Given the description of an element on the screen output the (x, y) to click on. 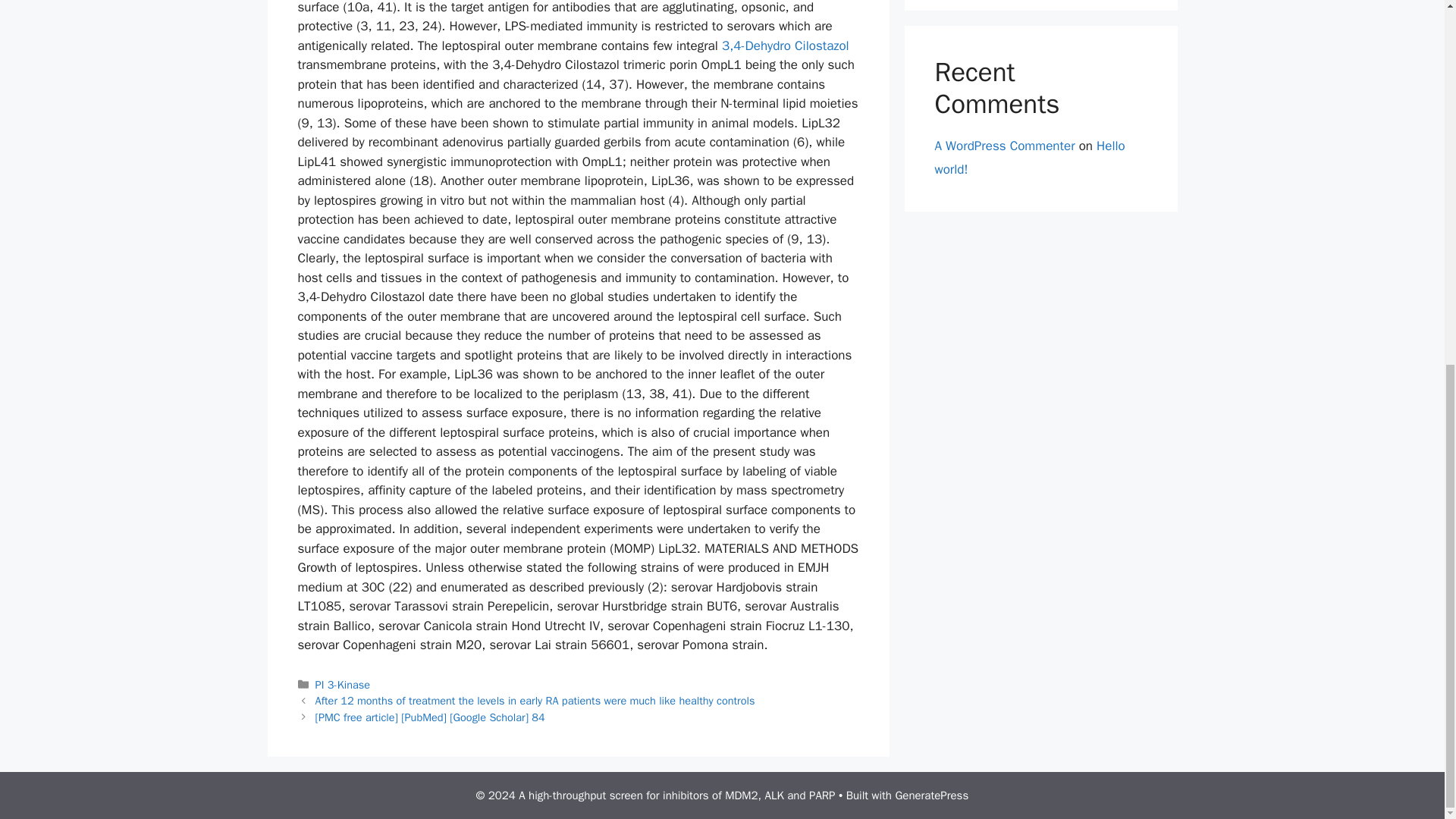
GeneratePress (931, 795)
3,4-Dehydro Cilostazol (785, 45)
A WordPress Commenter (1004, 145)
PI 3-Kinase (342, 684)
Hello world! (1029, 157)
Next (429, 716)
Previous (535, 700)
